Given the description of an element on the screen output the (x, y) to click on. 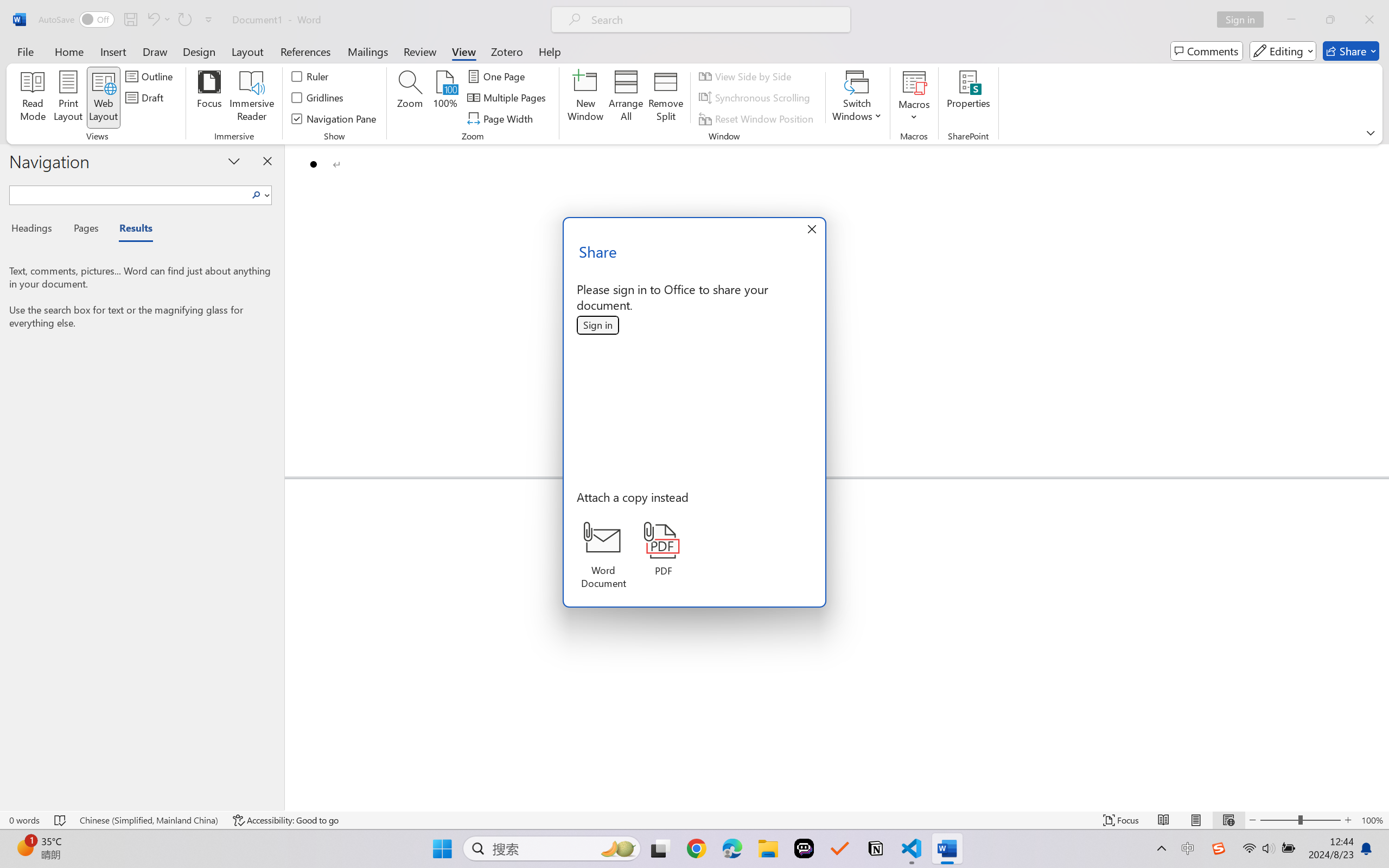
Draft (146, 97)
Remove Split (665, 97)
Macros (914, 97)
Reset Window Position (757, 118)
